Given the description of an element on the screen output the (x, y) to click on. 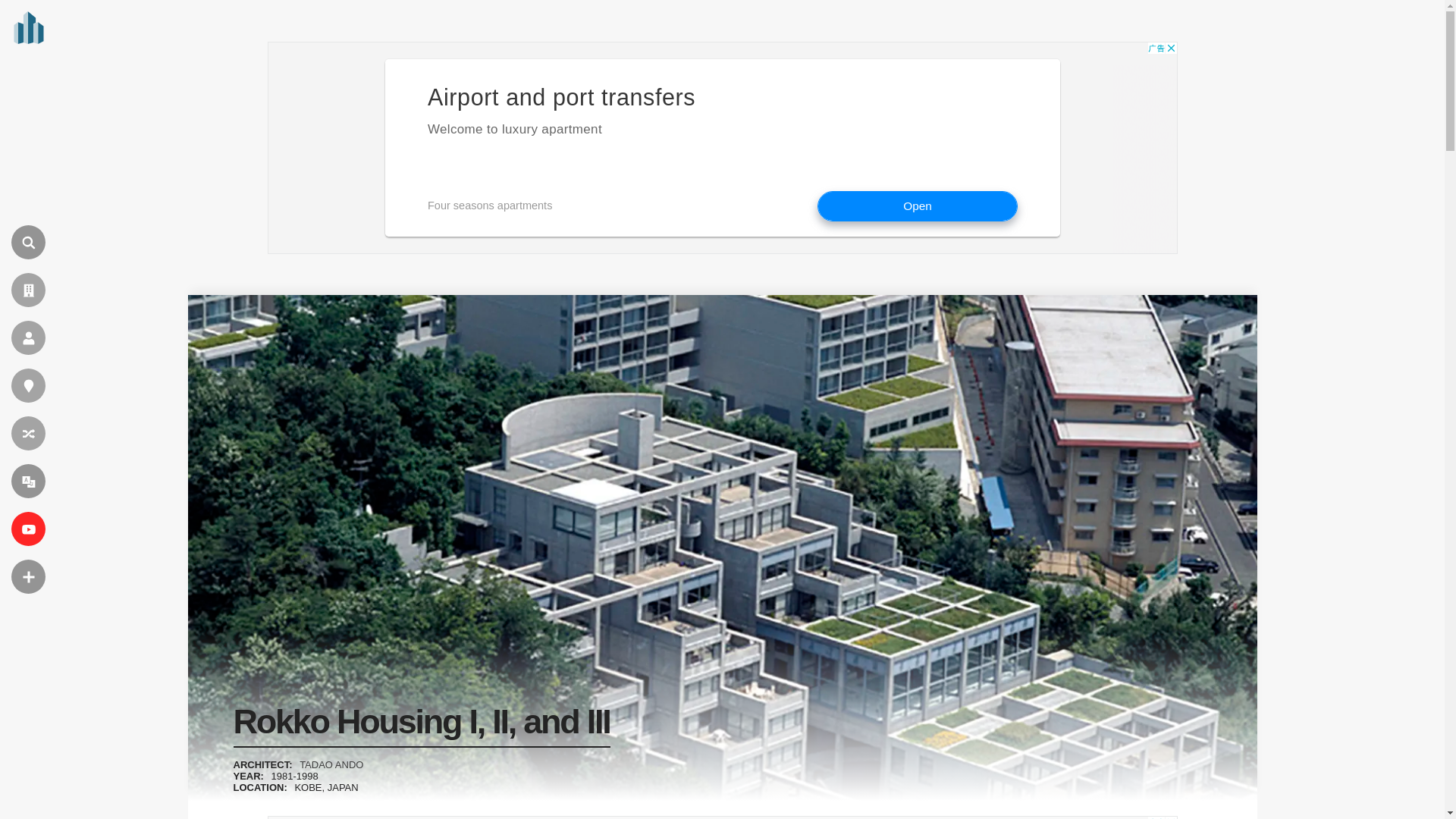
TADAO ANDO (330, 764)
